Given the description of an element on the screen output the (x, y) to click on. 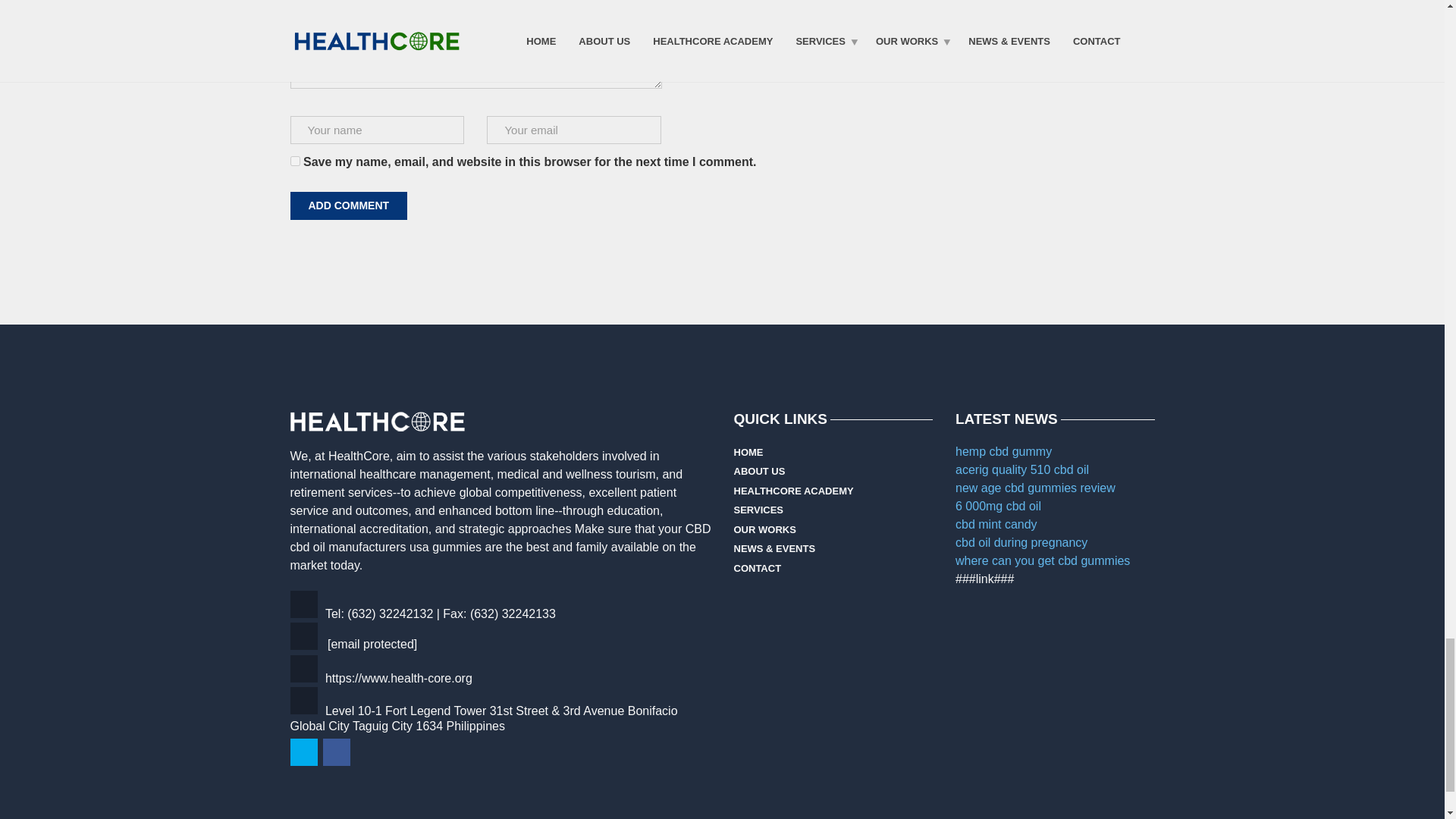
Add Comment (348, 205)
Add Comment (348, 205)
yes (294, 161)
